Given the description of an element on the screen output the (x, y) to click on. 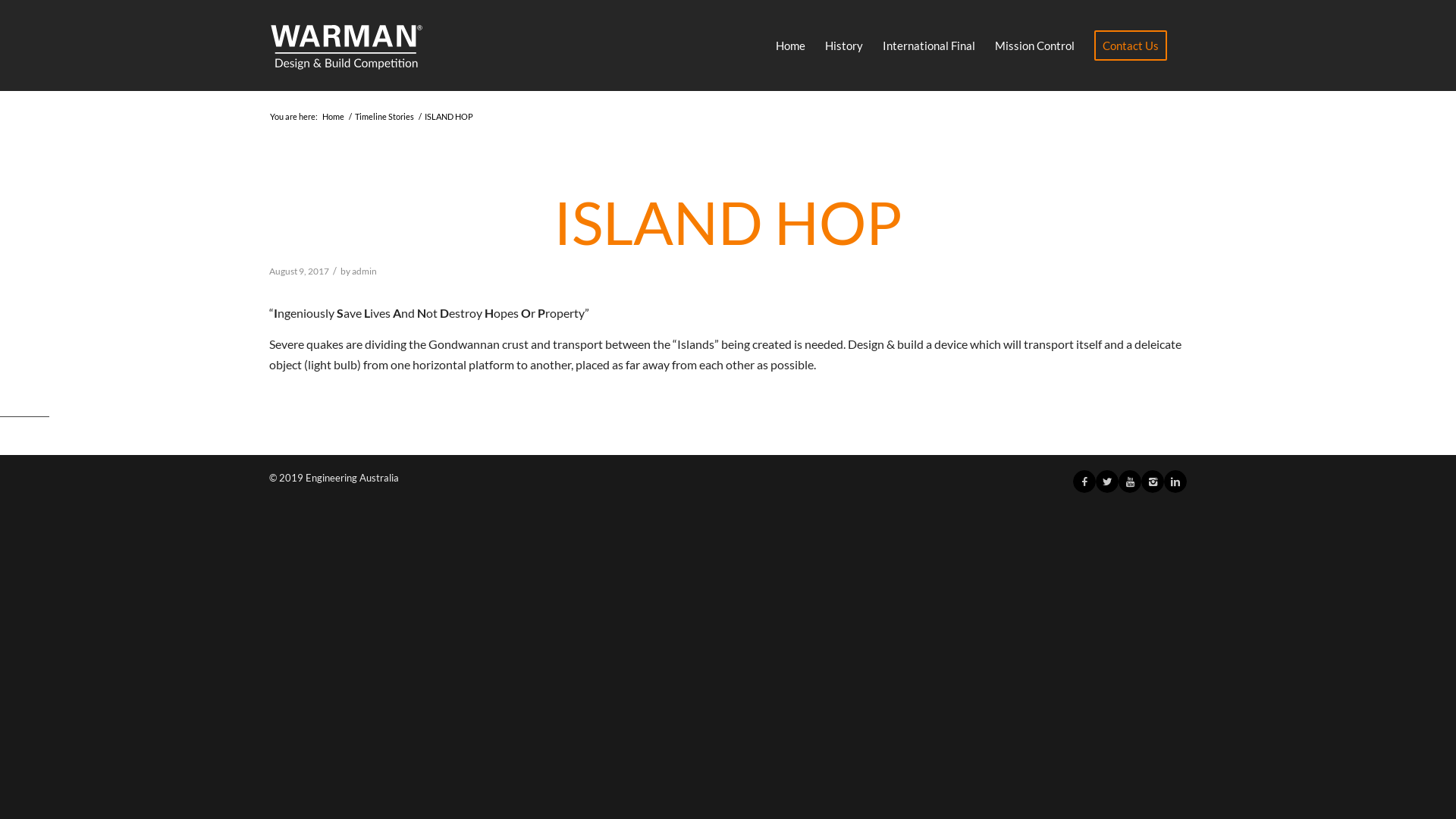
Timeline Stories Element type: text (384, 116)
Facebook Element type: hover (1084, 481)
admin Element type: text (363, 271)
Contact Us Element type: text (1130, 45)
Youtube Element type: hover (1129, 481)
ISLAND HOP Element type: text (727, 222)
Twitter Element type: hover (1106, 481)
International Final Element type: text (928, 45)
Home Element type: text (333, 116)
Home Element type: text (790, 45)
History Element type: text (843, 45)
Linkedin Element type: hover (1175, 481)
Mission Control Element type: text (1034, 45)
Instagram Element type: hover (1152, 481)
